Given the description of an element on the screen output the (x, y) to click on. 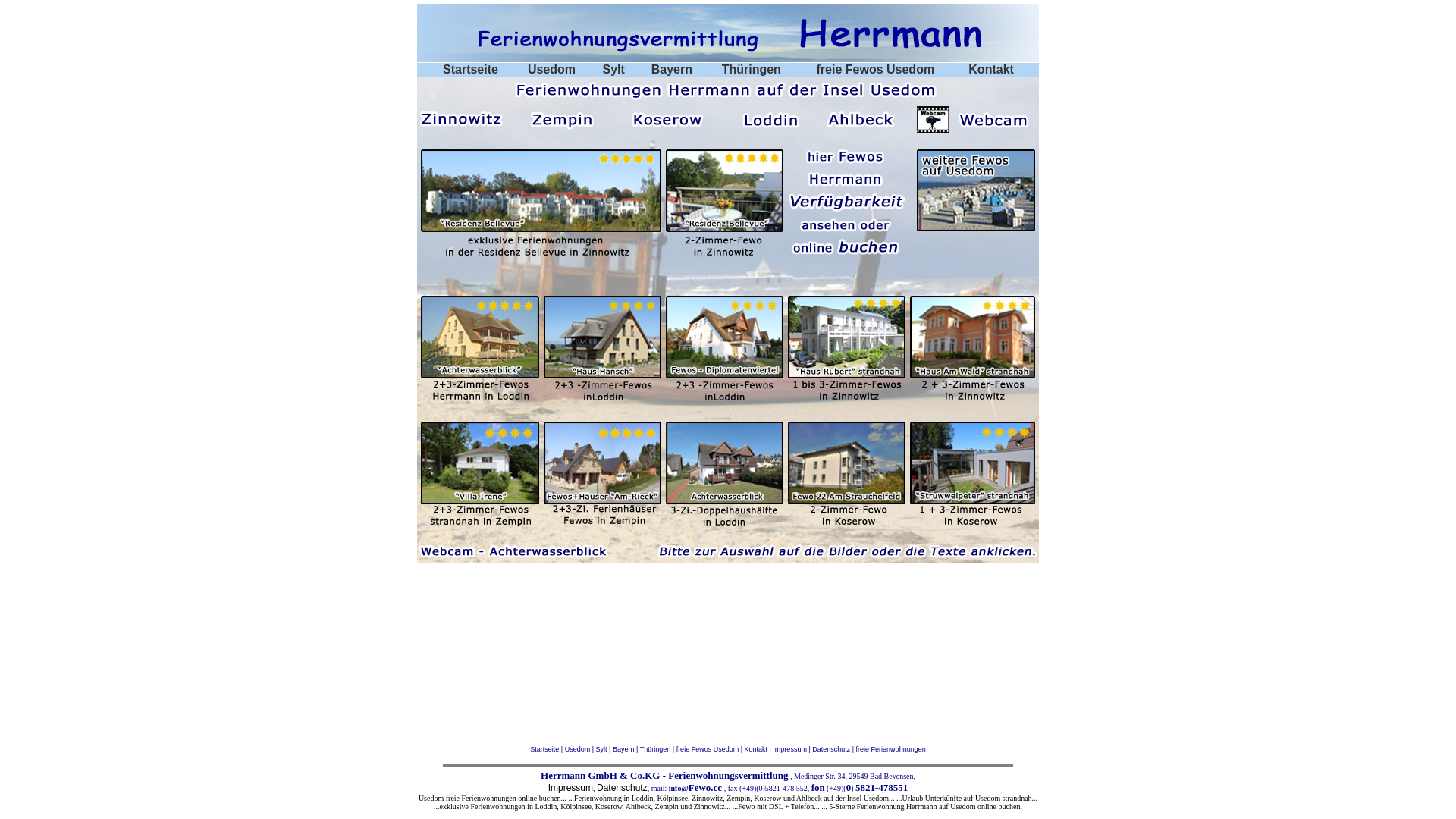
 | Datenschutz Element type: text (828, 749)
Usedom Element type: text (551, 68)
freie Fewos Usedom |  Element type: text (710, 749)
Kontakt Element type: text (756, 749)
Impressum Element type: text (570, 787)
 | freie Ferienwohnungen Element type: text (887, 749)
freie Fewos Usedom Element type: text (875, 68)
Usedom |  Element type: text (580, 749)
Bayern |  Element type: text (626, 749)
Datenschutz Element type: text (621, 787)
Startseite Element type: text (470, 68)
Startseite |  Element type: text (547, 749)
Bayern Element type: text (671, 68)
Kontakt Element type: text (990, 68)
Sylt |  Element type: text (604, 749)
Sylt Element type: text (613, 68)
 | Impressum Element type: text (786, 749)
